Given the description of an element on the screen output the (x, y) to click on. 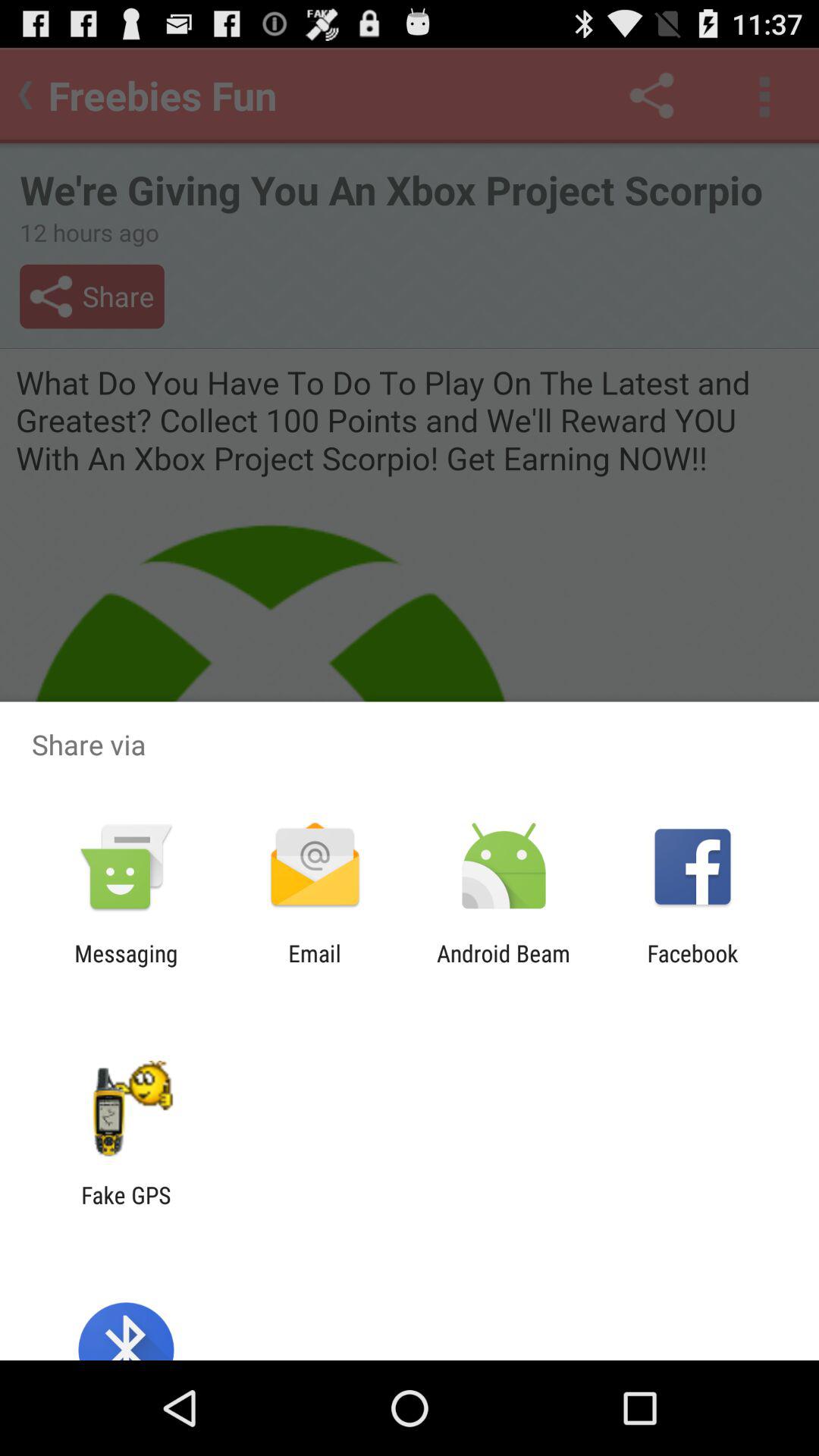
choose the fake gps item (126, 1208)
